Given the description of an element on the screen output the (x, y) to click on. 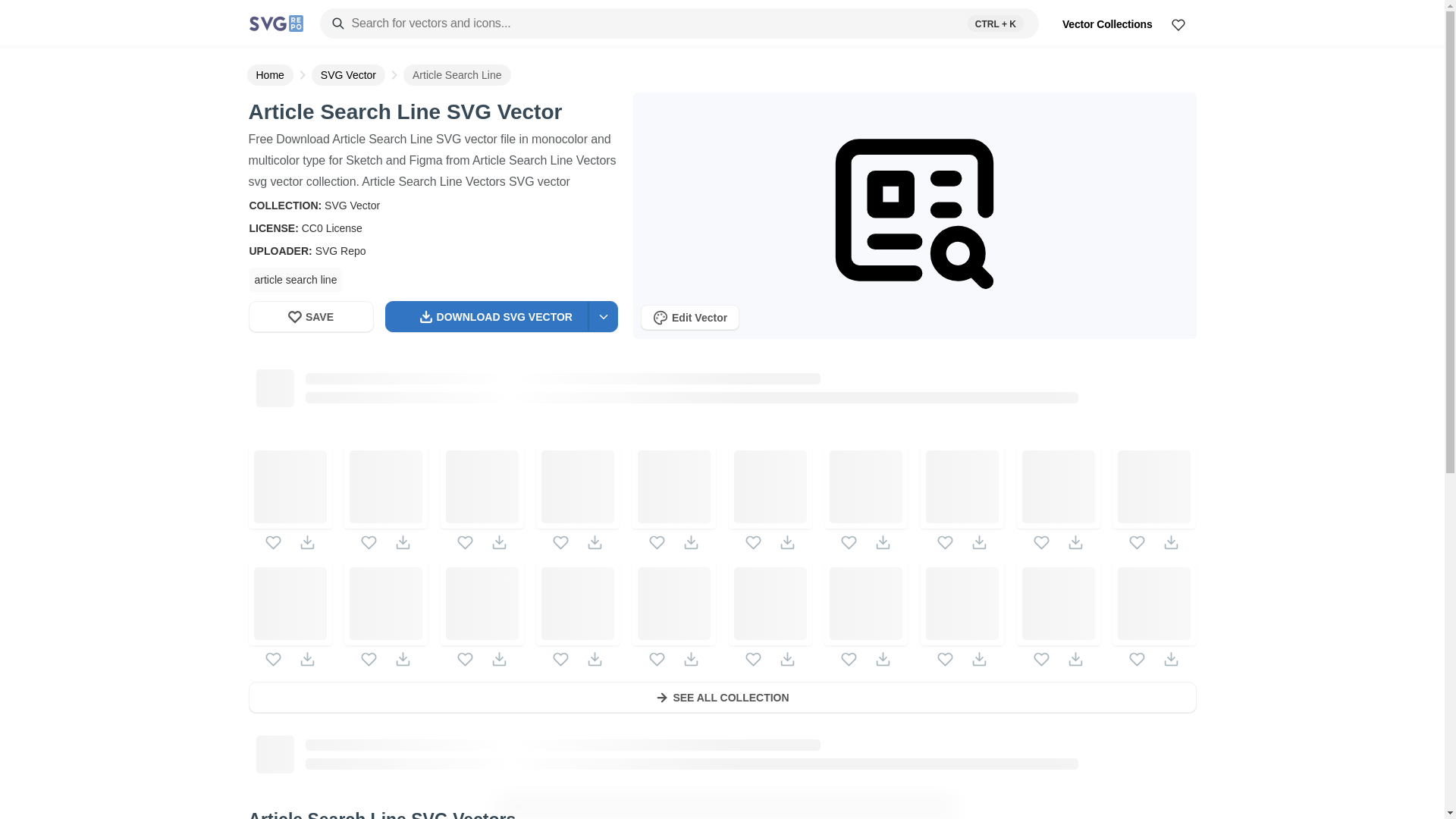
Like undefined SVG File (657, 542)
Like undefined SVG File (945, 542)
Like undefined SVG File (753, 659)
Edit Vector (689, 317)
Like undefined SVG File (369, 659)
SVG Vector (352, 205)
Like undefined SVG File (369, 542)
CC0 License (331, 227)
Like undefined SVG File (561, 659)
SEE ALL COLLECTION (722, 700)
Like undefined SVG File (465, 659)
Like undefined SVG File (849, 542)
SVG Vector (348, 74)
Like undefined SVG File (1136, 542)
SVG Repo (340, 250)
